Given the description of an element on the screen output the (x, y) to click on. 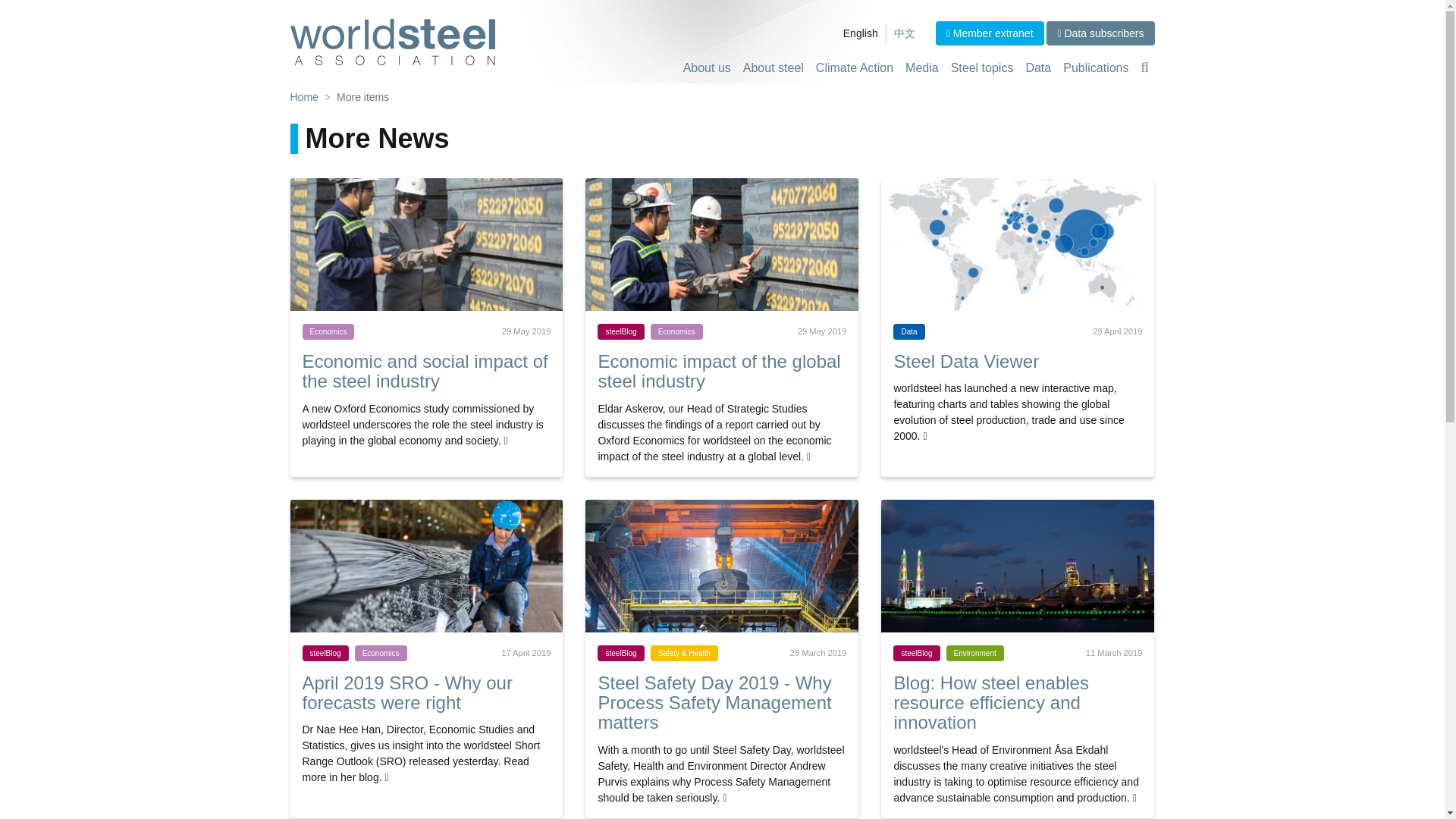
About us (706, 68)
Economics (330, 330)
English (860, 33)
Media (921, 68)
Member extranet (989, 33)
Economics (384, 652)
Data (1038, 68)
Steel Data Viewer (966, 361)
Climate Action (854, 68)
Publications (1095, 68)
